Given the description of an element on the screen output the (x, y) to click on. 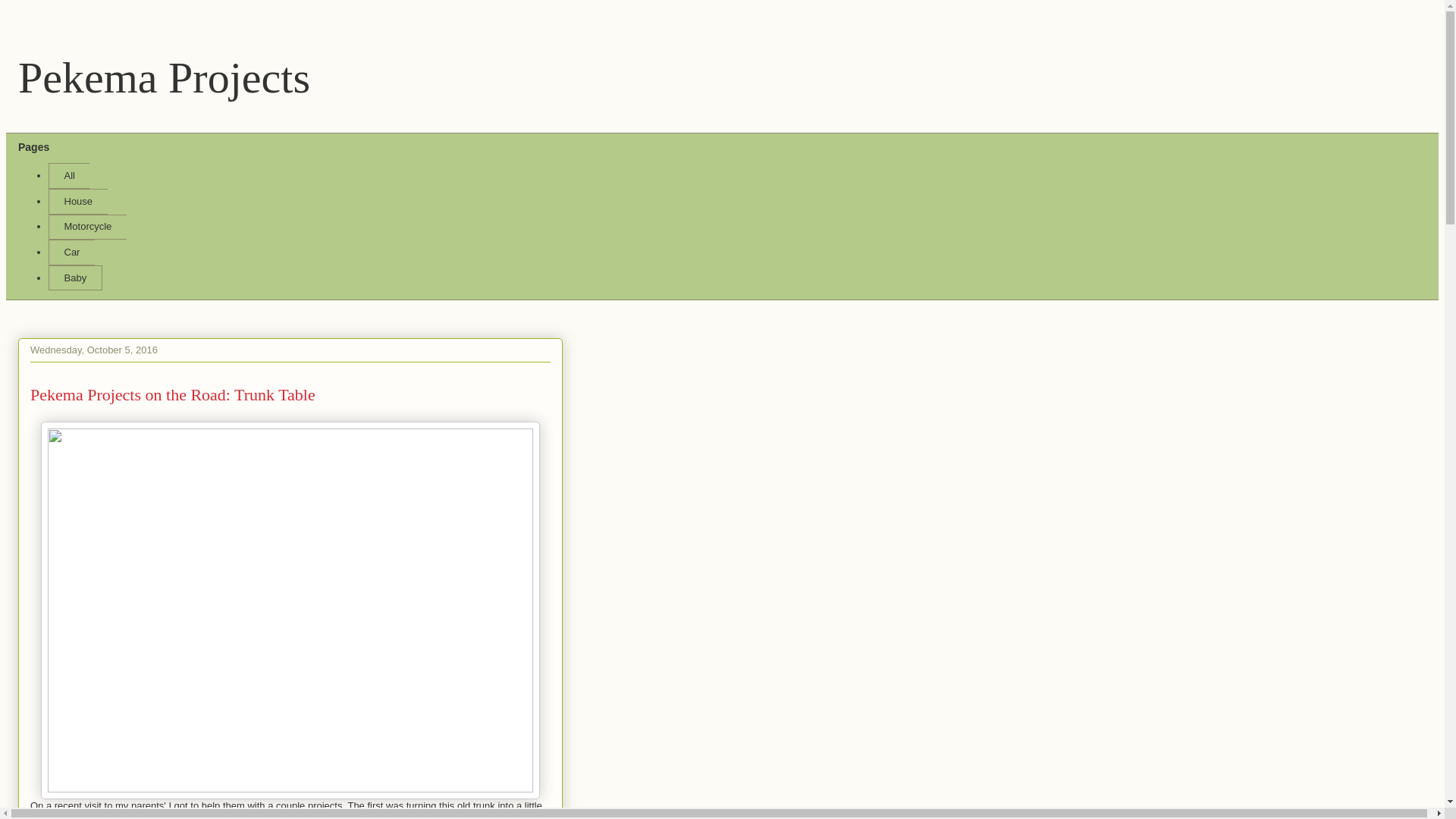
Motorcycle (87, 227)
Baby (74, 278)
House (77, 201)
Pekema Projects (163, 77)
Car (71, 252)
All (68, 175)
